Given the description of an element on the screen output the (x, y) to click on. 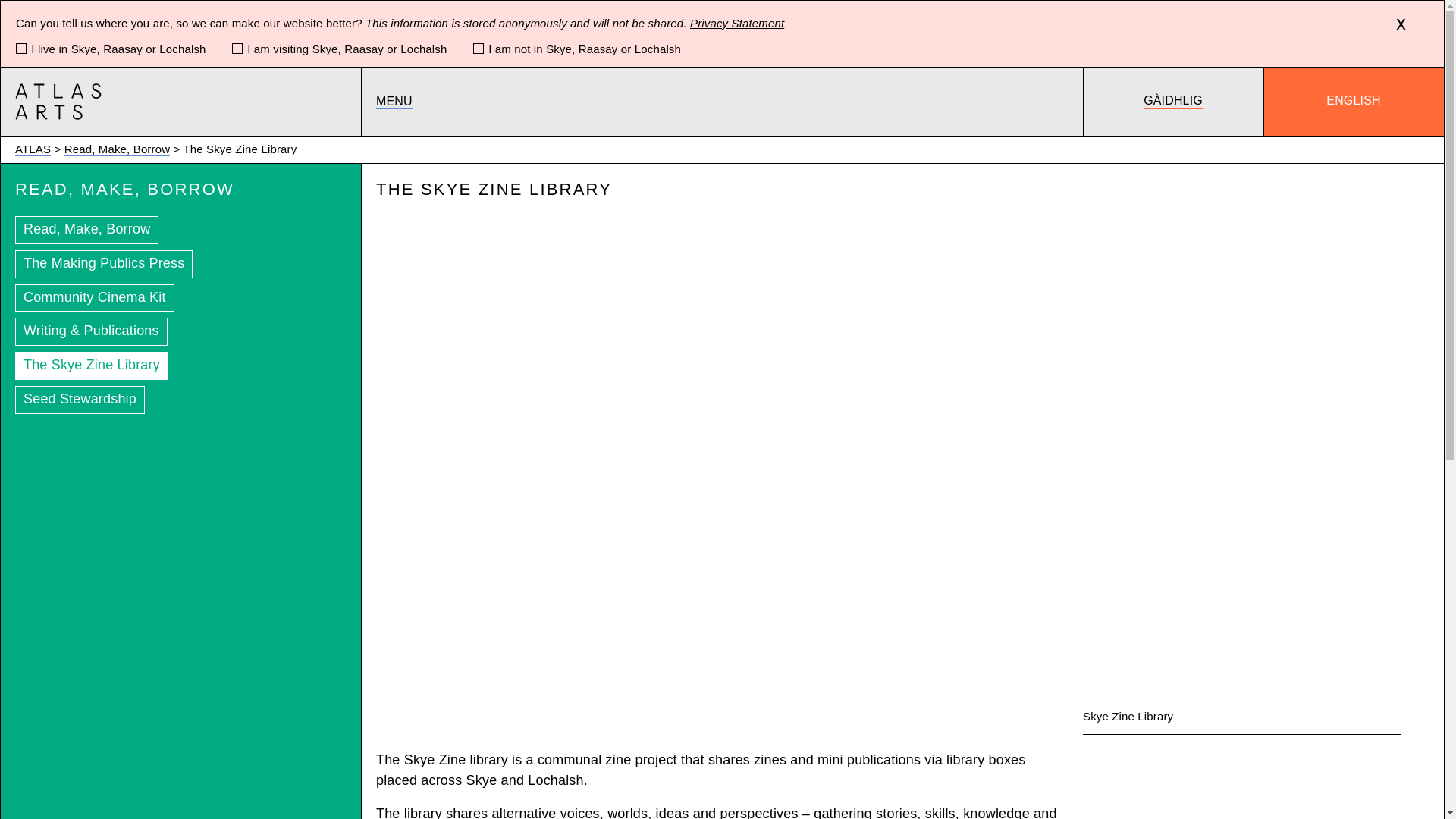
The Skye Zine Library (91, 366)
Privacy Statement (737, 22)
READ, MAKE, BORROW (124, 189)
Home (57, 101)
ATLAS (32, 149)
Seed Stewardship (79, 399)
Community Cinema Kit (94, 298)
Read, Make, Borrow (86, 230)
The Making Publics Press (103, 264)
Read, Make, Borrow (117, 149)
